Given the description of an element on the screen output the (x, y) to click on. 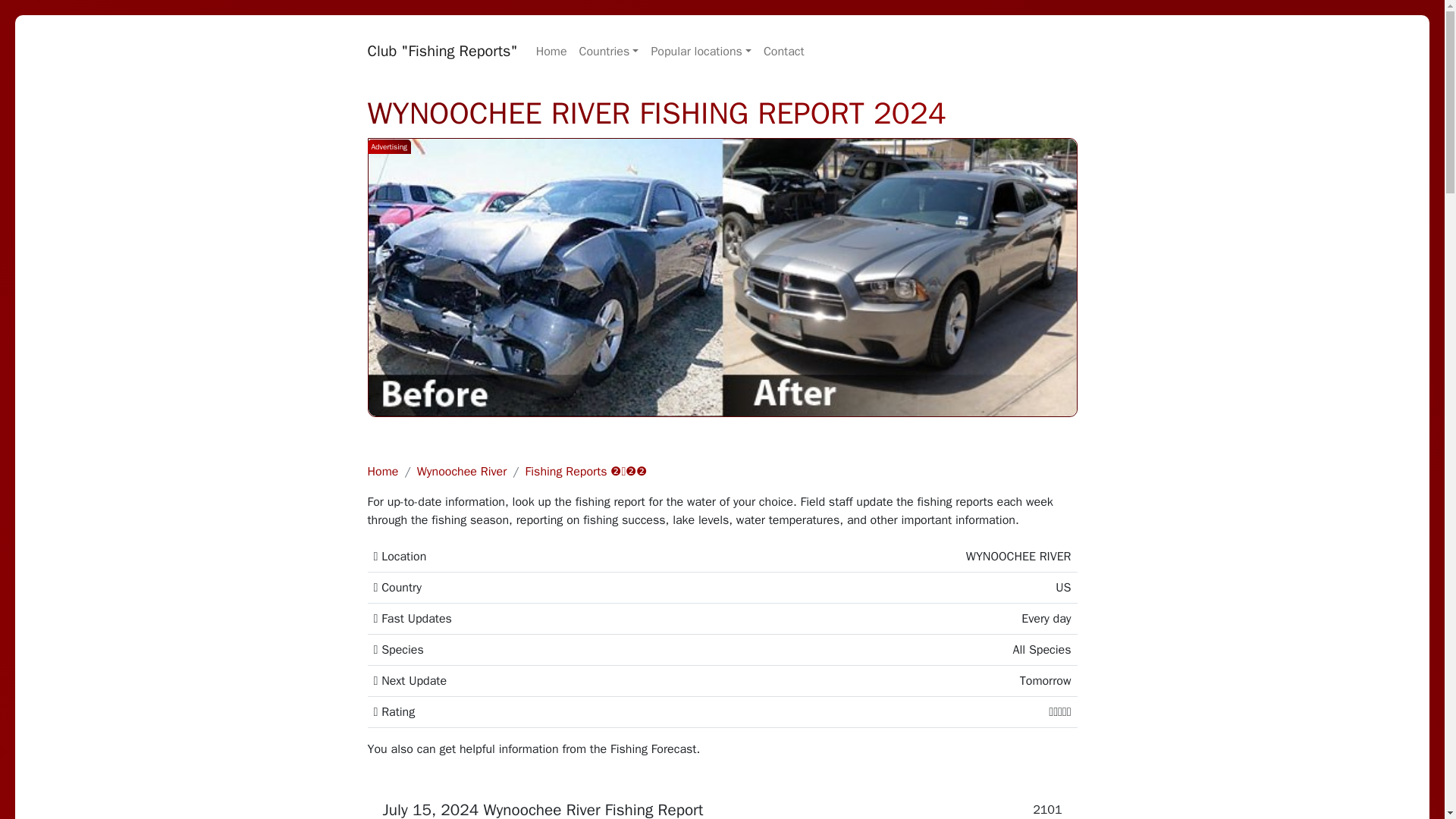
Home (381, 471)
Home (551, 51)
Club "Fishing Reports" (441, 51)
Wynoochee River (461, 471)
Countries (609, 51)
Contact (783, 51)
Popular locations (701, 51)
